Given the description of an element on the screen output the (x, y) to click on. 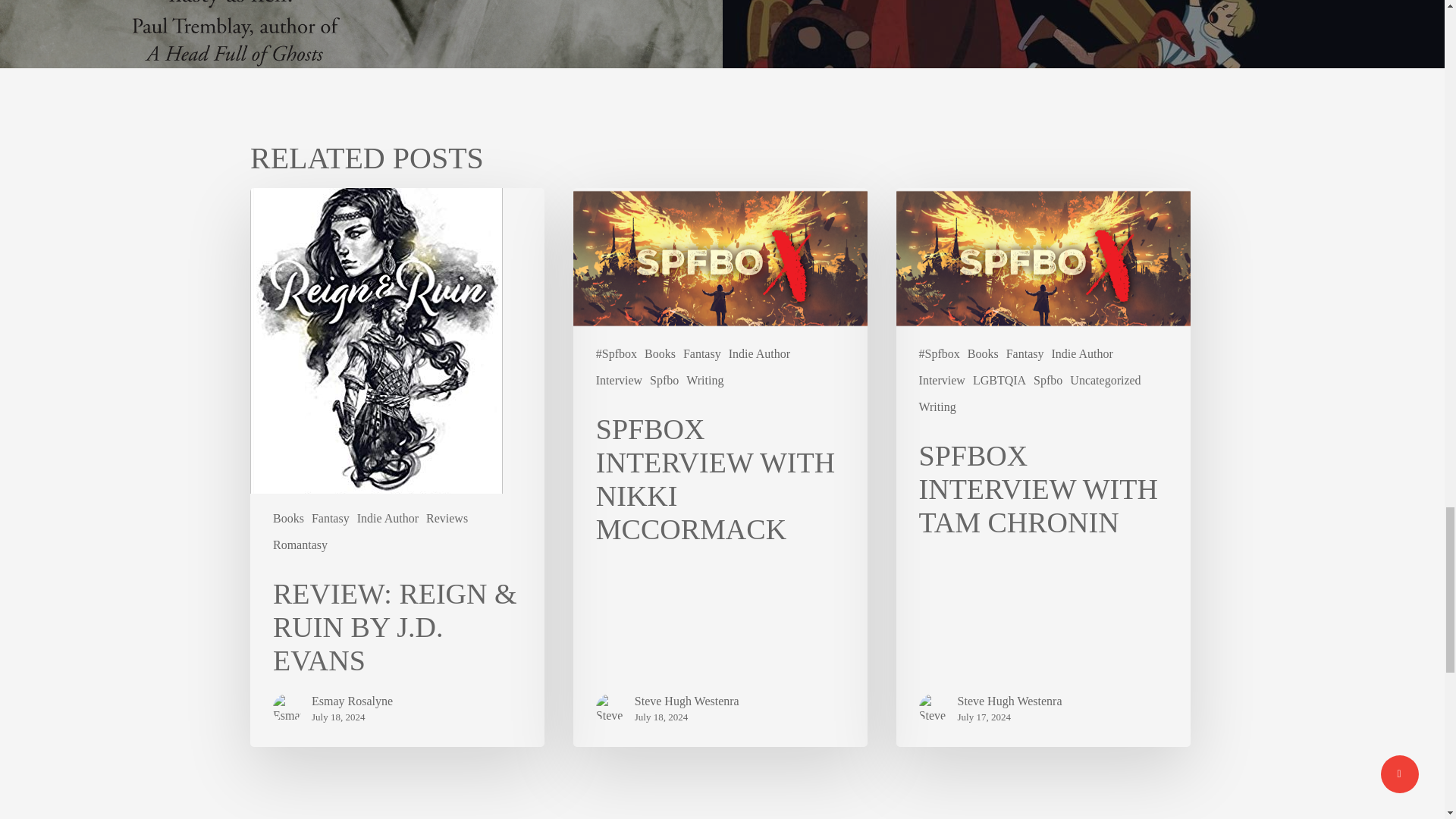
Fantasy (330, 518)
Romantasy (300, 545)
Reviews (446, 518)
Esmay Rosalyne (352, 701)
Books (660, 353)
Books (288, 518)
Indie Author (387, 518)
